Given the description of an element on the screen output the (x, y) to click on. 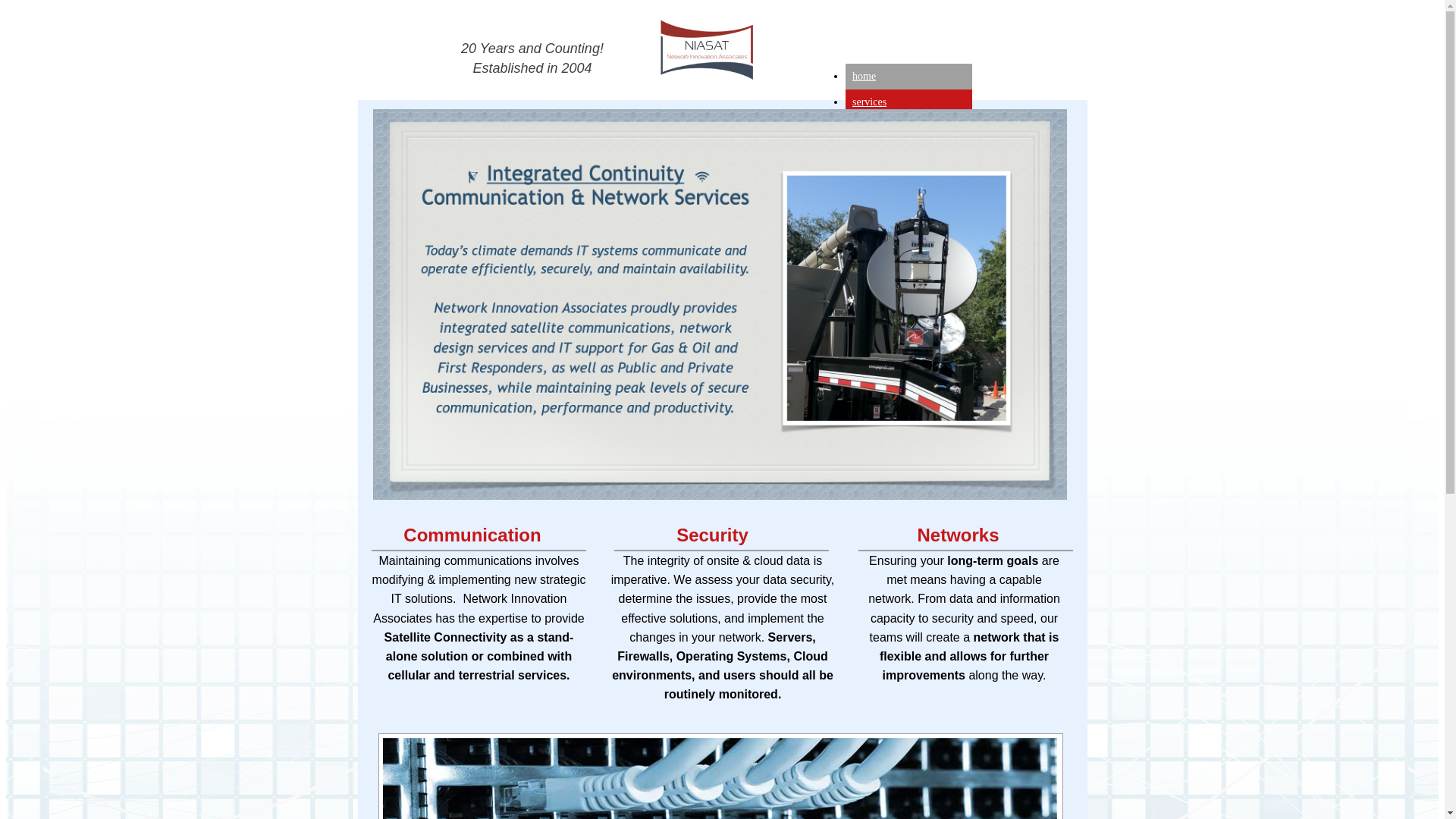
services (868, 101)
home (863, 75)
contact (866, 127)
